Given the description of an element on the screen output the (x, y) to click on. 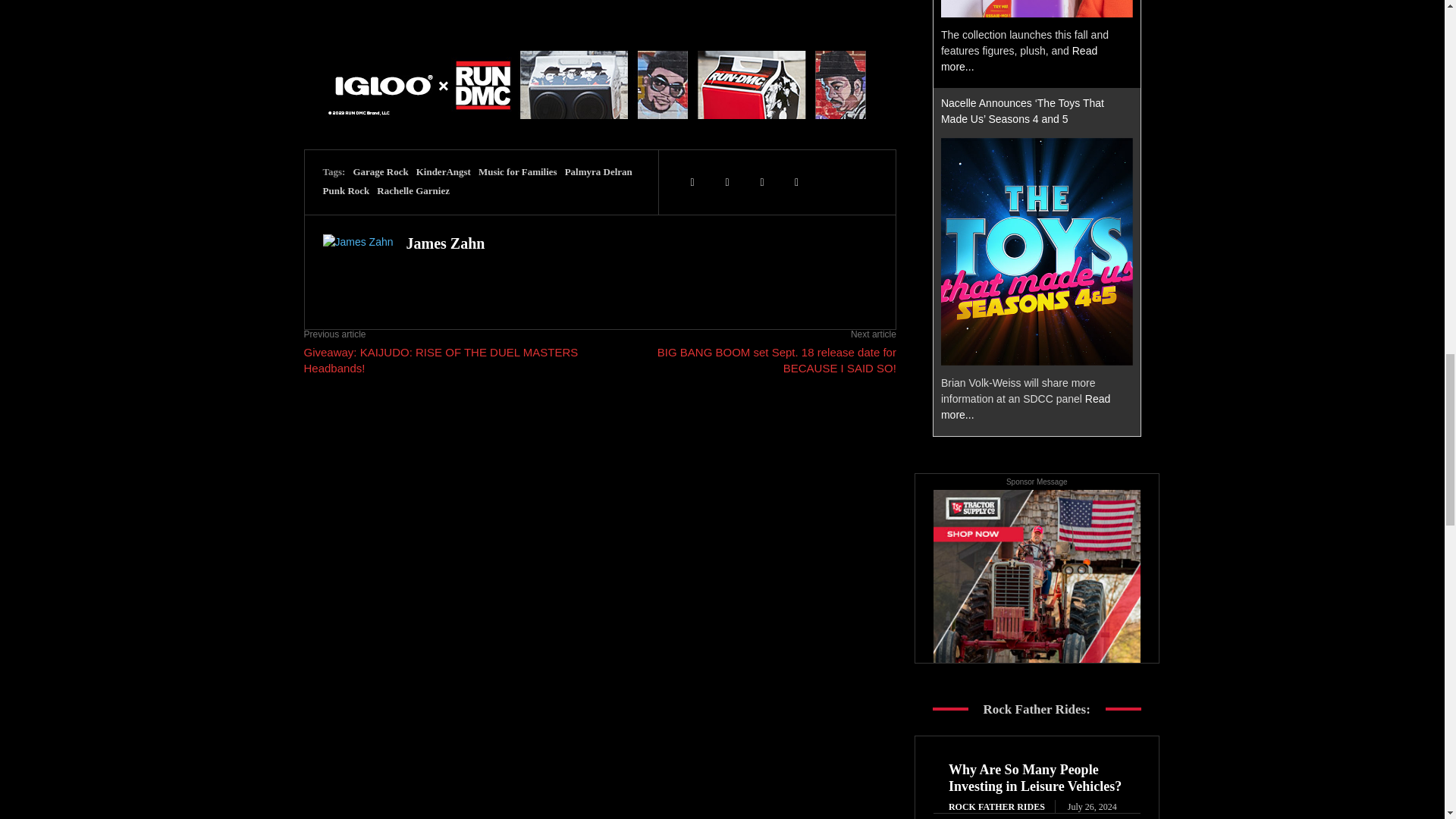
Twitter (692, 182)
